Given the description of an element on the screen output the (x, y) to click on. 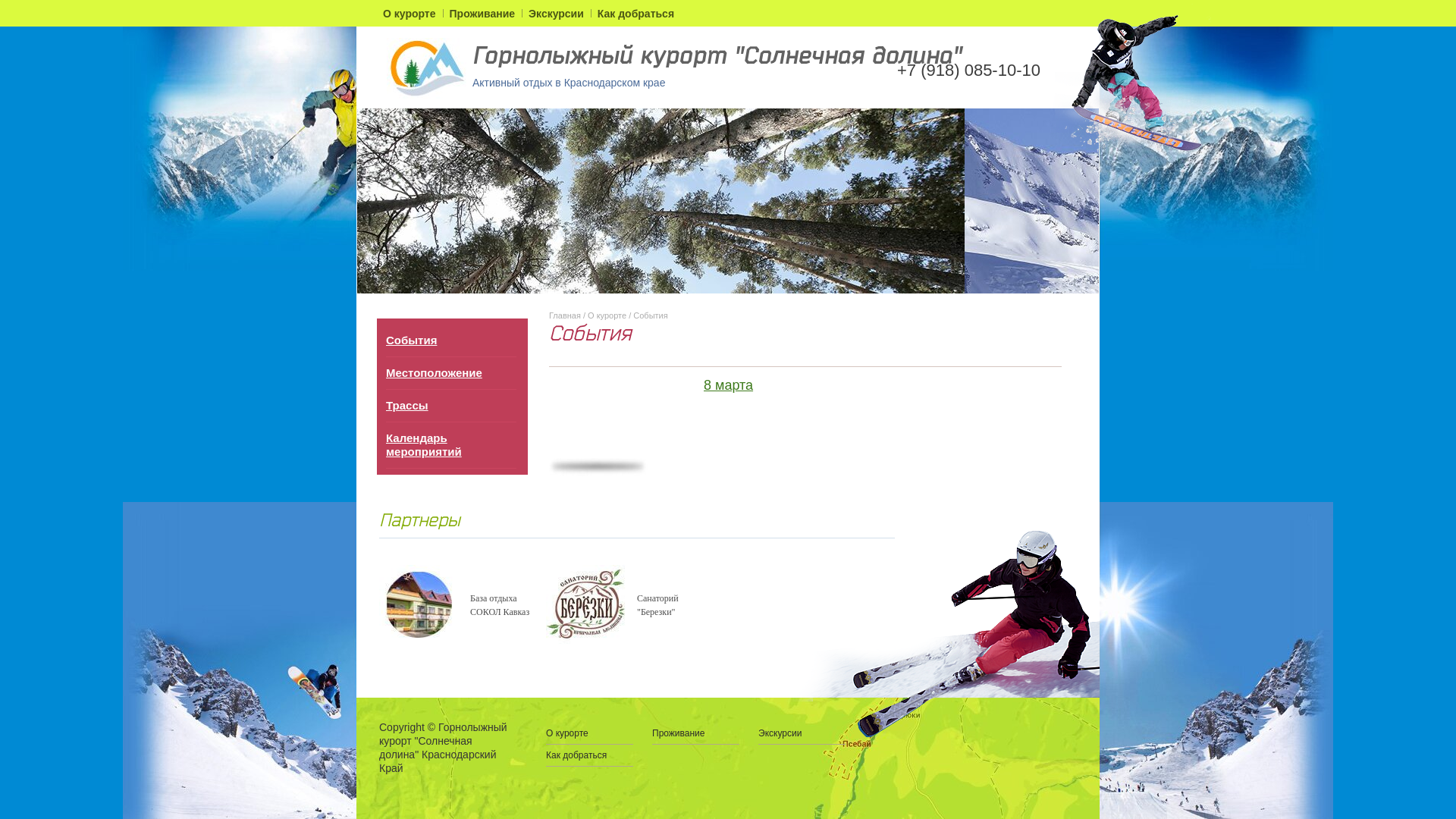
Next Element type: text (1080, 200)
Previous Element type: text (375, 200)
# Element type: hover (426, 67)
